Given the description of an element on the screen output the (x, y) to click on. 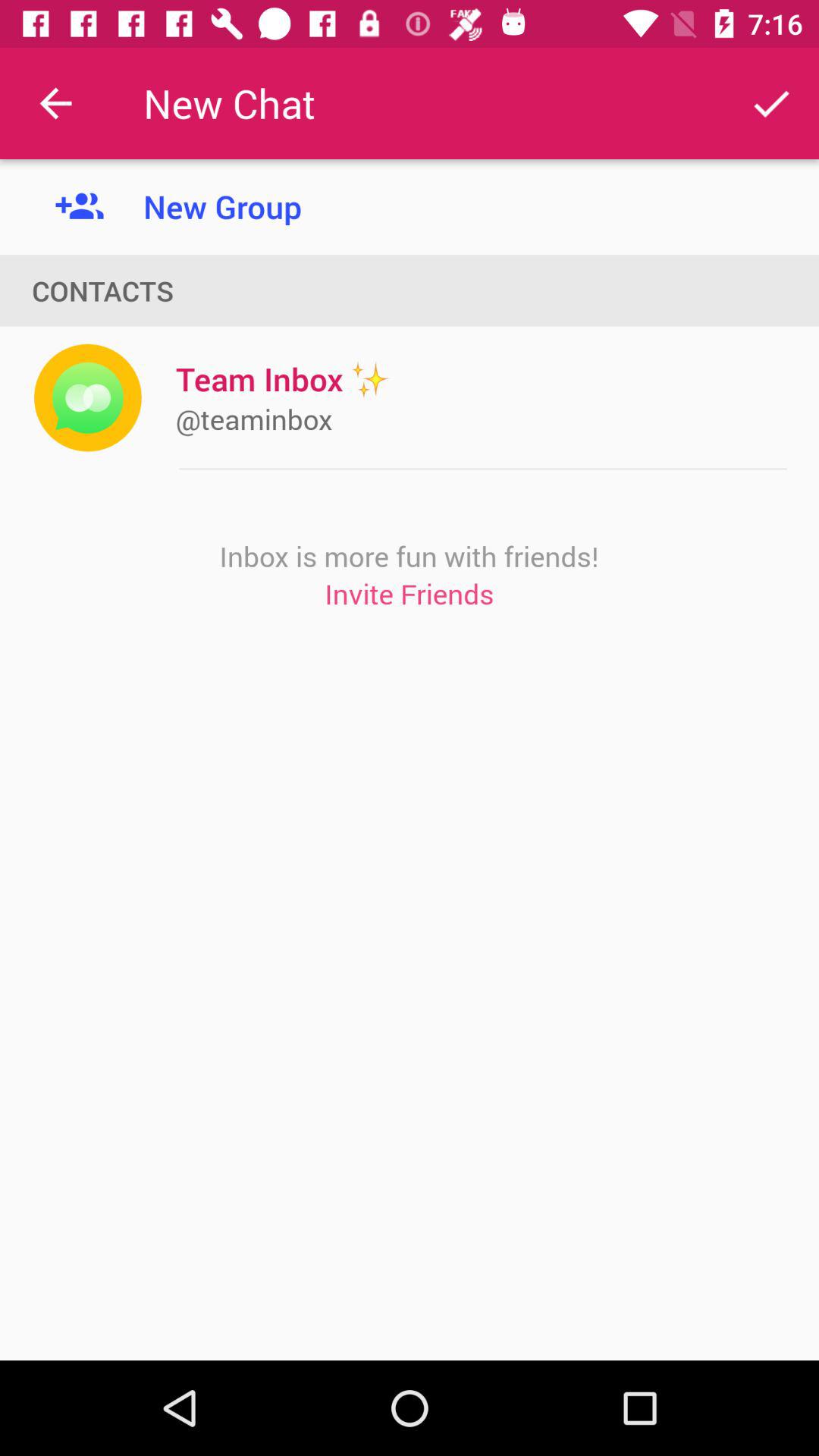
launch icon to the left of new group icon (55, 103)
